Given the description of an element on the screen output the (x, y) to click on. 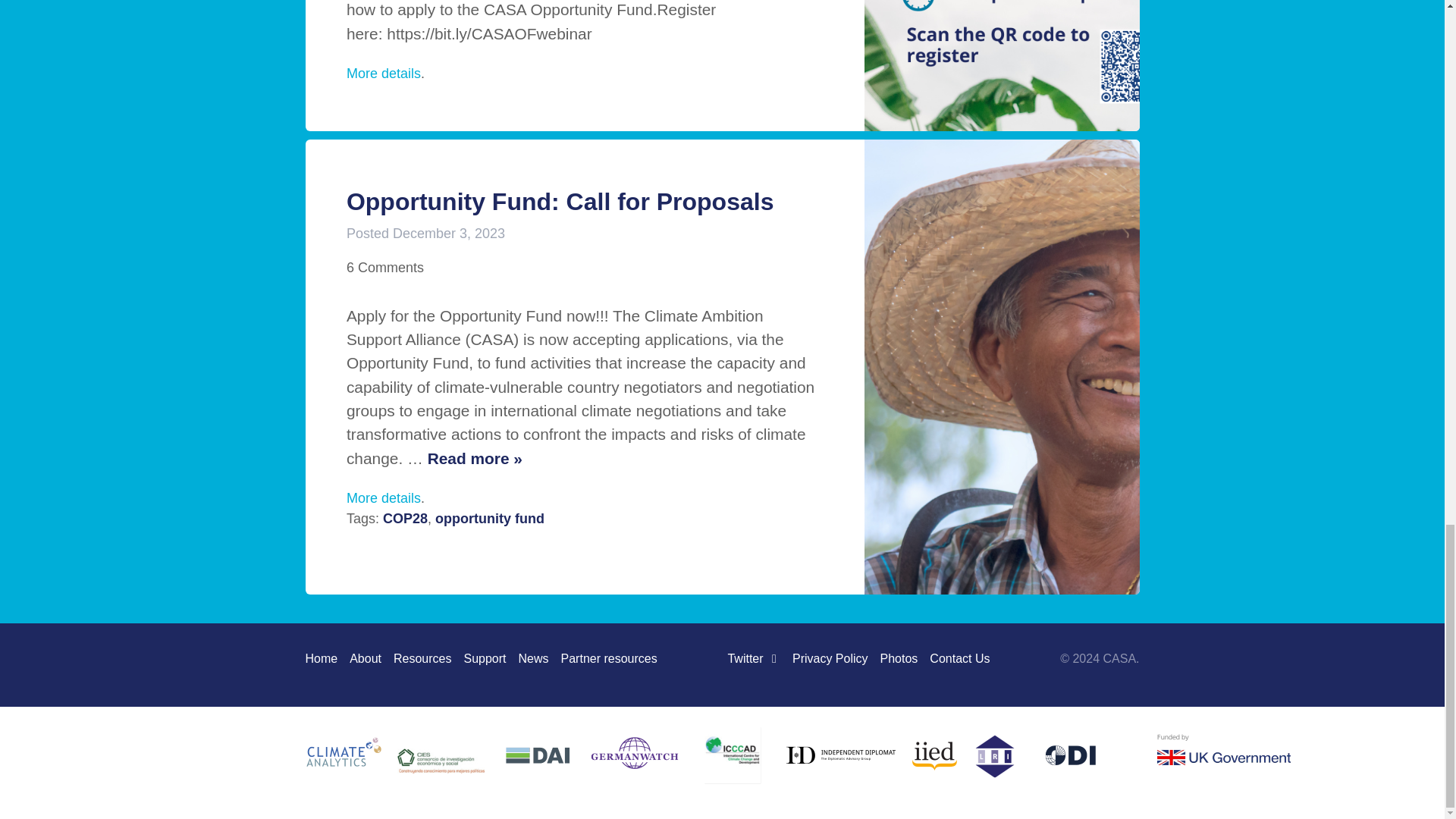
Partner resources (609, 658)
Privacy Policy (829, 658)
About (365, 658)
Photos (899, 658)
Contact Us (960, 658)
Resources (422, 658)
Read Opportunity Fund: Call for Proposals (475, 457)
Support (484, 658)
opportunity fund (489, 518)
Twitter (753, 658)
More details (383, 498)
Opportunity Fund: Call for Proposals (560, 201)
More details (383, 73)
Home (320, 658)
Opportunity Fund: Call for Proposals (560, 201)
